Given the description of an element on the screen output the (x, y) to click on. 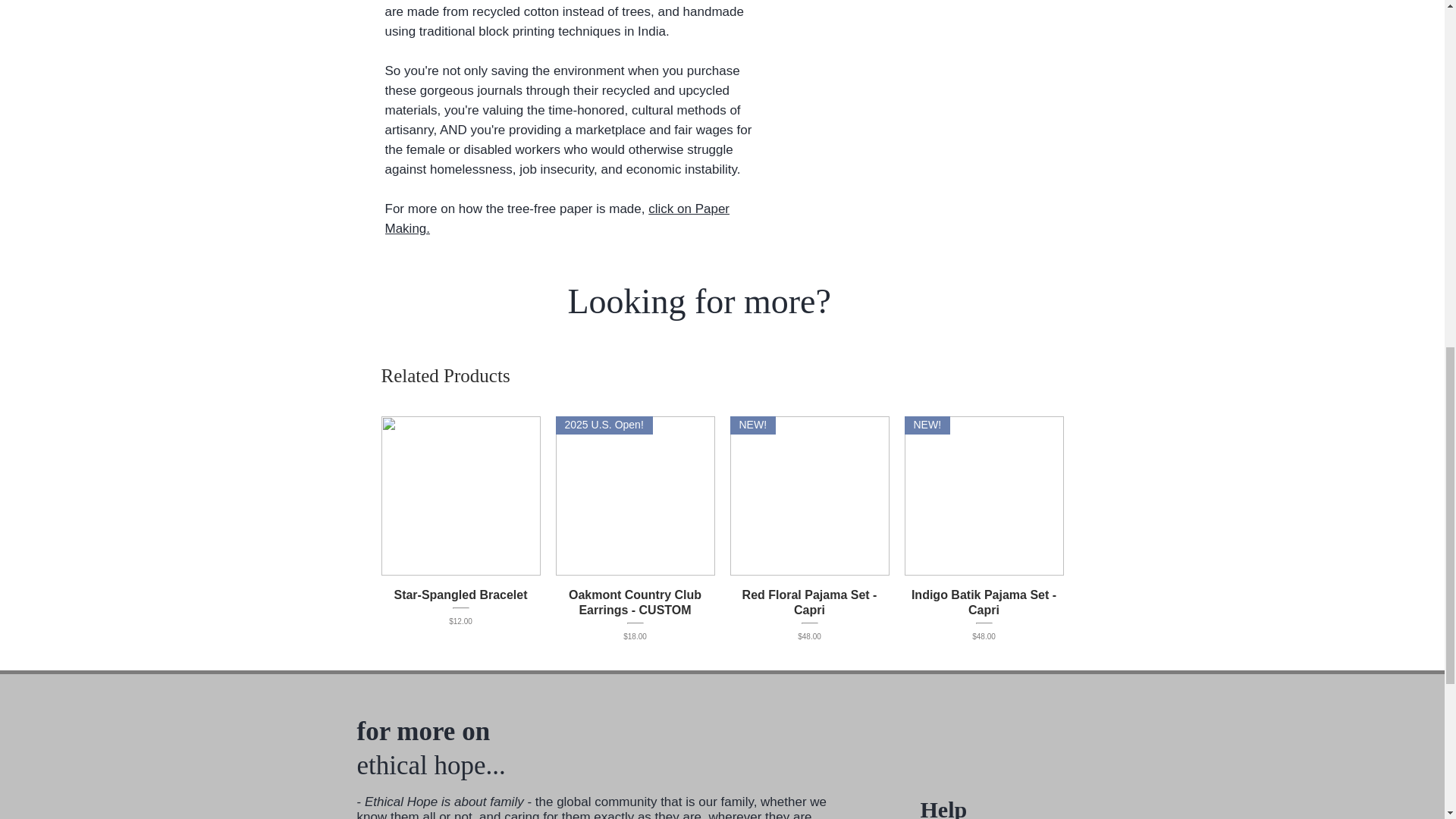
click on Paper Making. (557, 218)
